Given the description of an element on the screen output the (x, y) to click on. 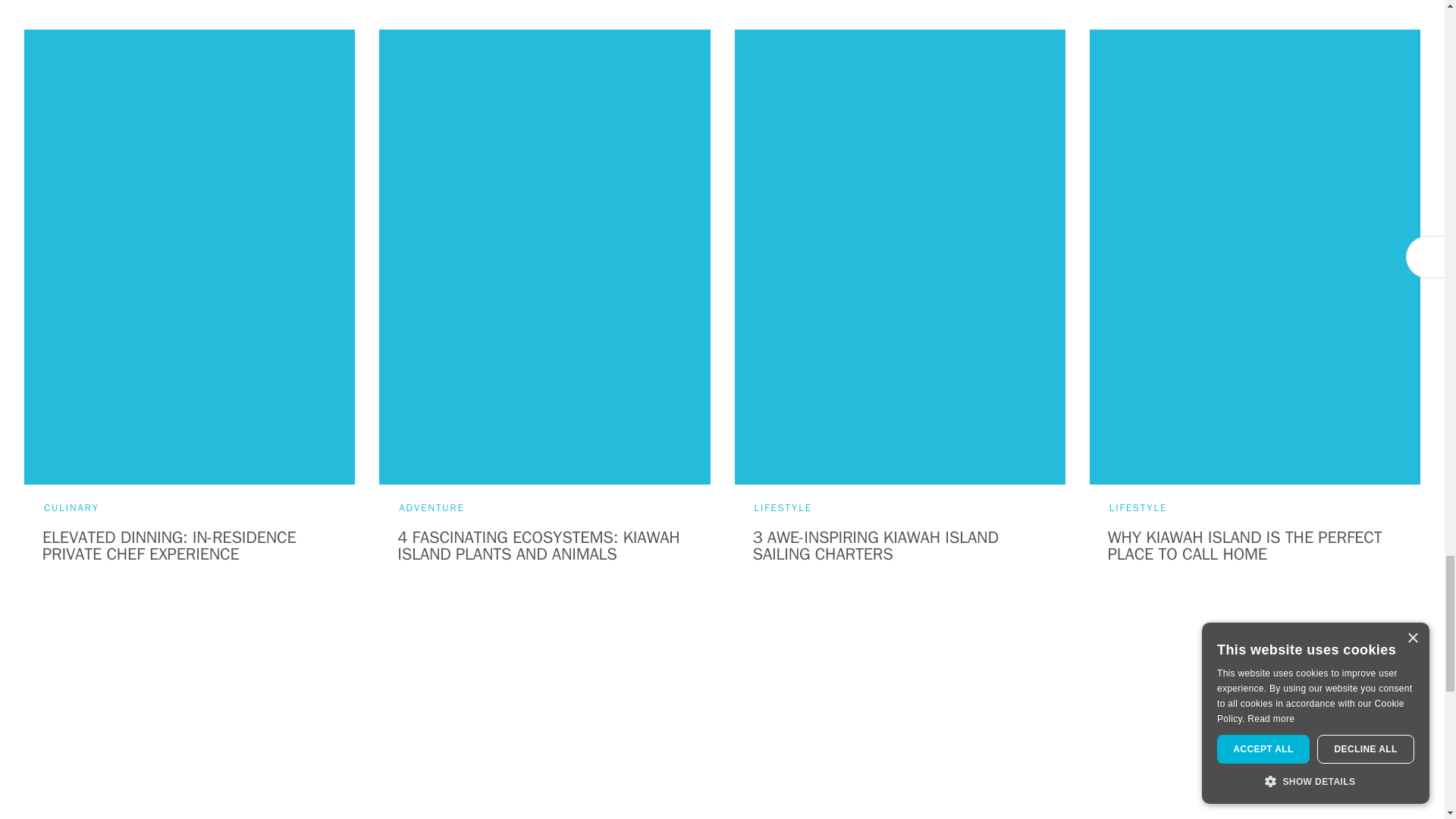
Connect with us on facebook (696, 768)
Connect with us on instagram (746, 768)
